Given the description of an element on the screen output the (x, y) to click on. 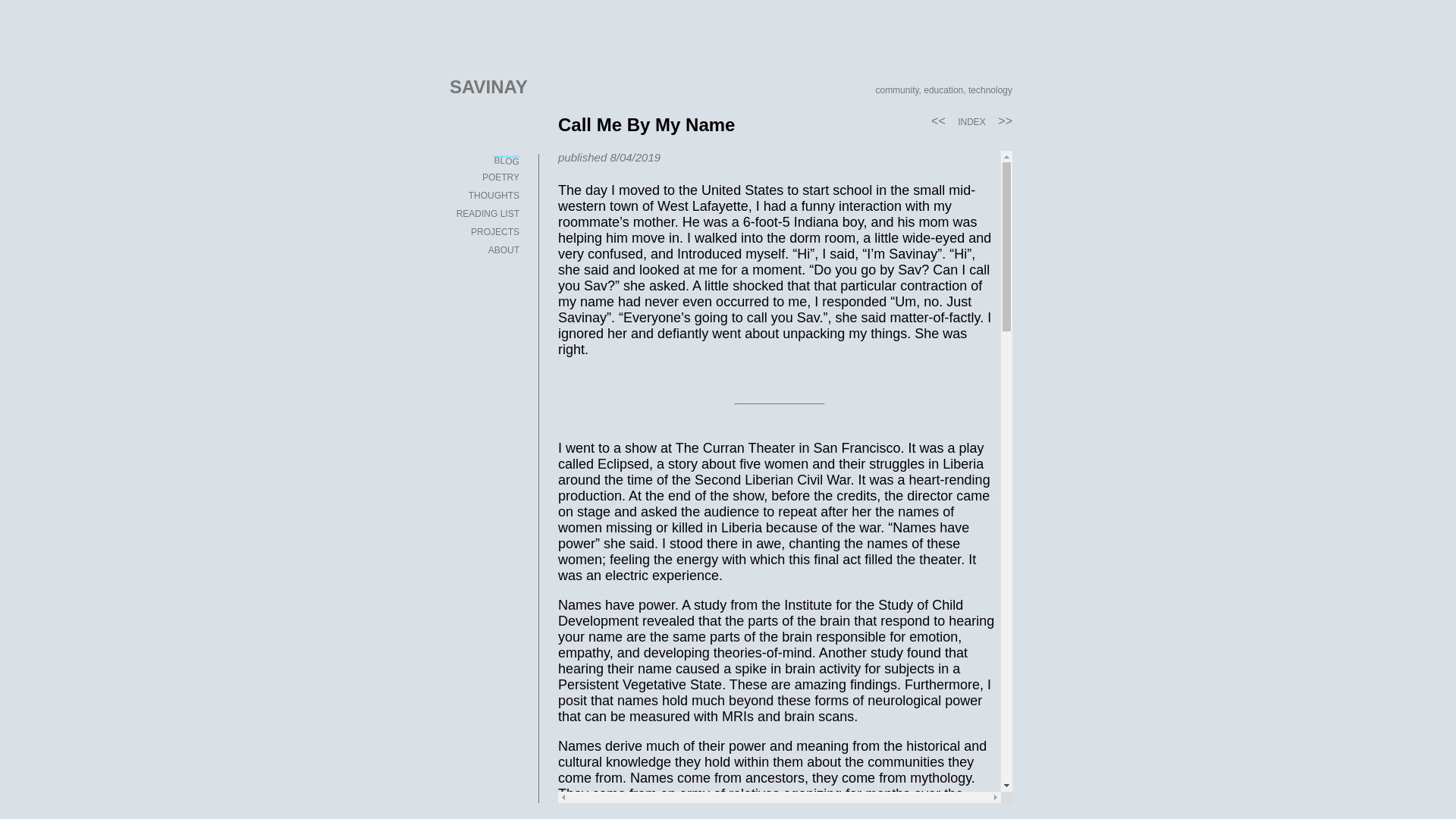
ABOUT (481, 249)
READING LIST (481, 213)
BLOG (481, 156)
THOUGHTS (481, 195)
INDEX (971, 122)
POETRY (481, 176)
PROJECTS (481, 231)
